Given the description of an element on the screen output the (x, y) to click on. 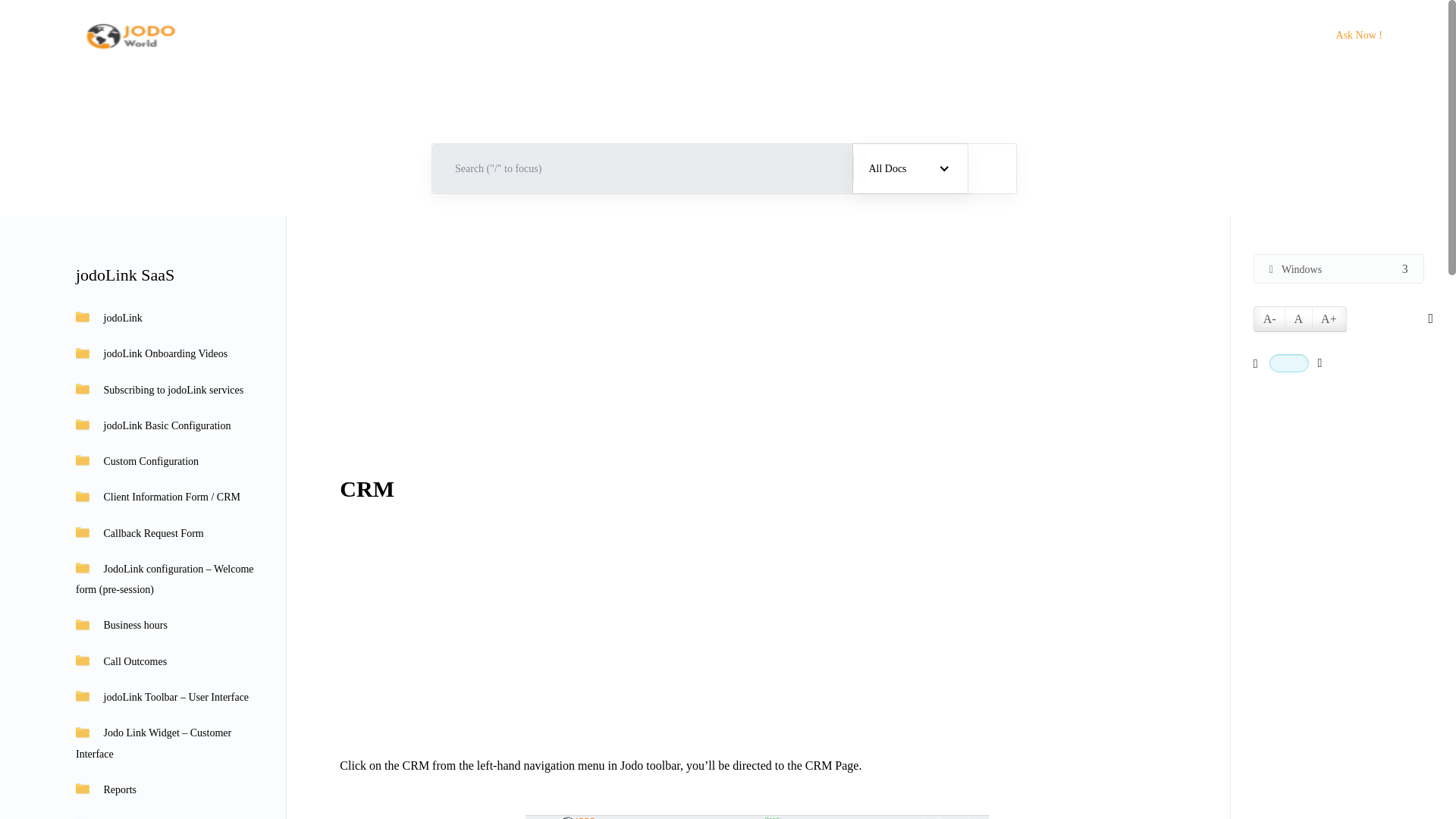
Ask Now ! (1359, 35)
Decrease font size (1269, 318)
Windows (1338, 268)
More (1242, 35)
Default font size (1298, 318)
on (1288, 362)
Increase font size (1328, 318)
